Given the description of an element on the screen output the (x, y) to click on. 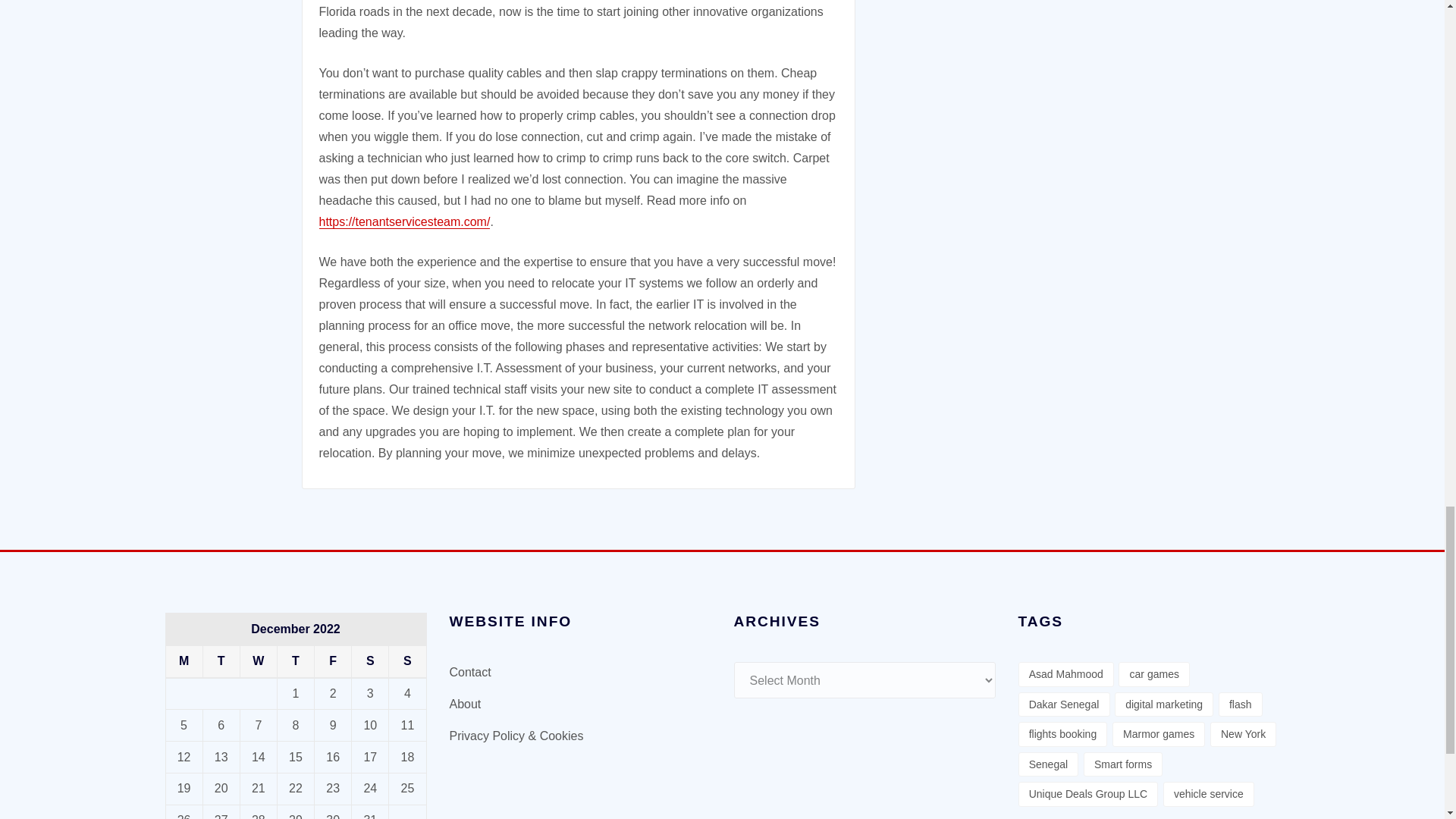
Tuesday (221, 661)
15 (295, 757)
11 (407, 725)
13 (221, 757)
Wednesday (258, 661)
Sunday (407, 661)
16 (332, 757)
12 (183, 757)
14 (257, 757)
Thursday (295, 661)
